Given the description of an element on the screen output the (x, y) to click on. 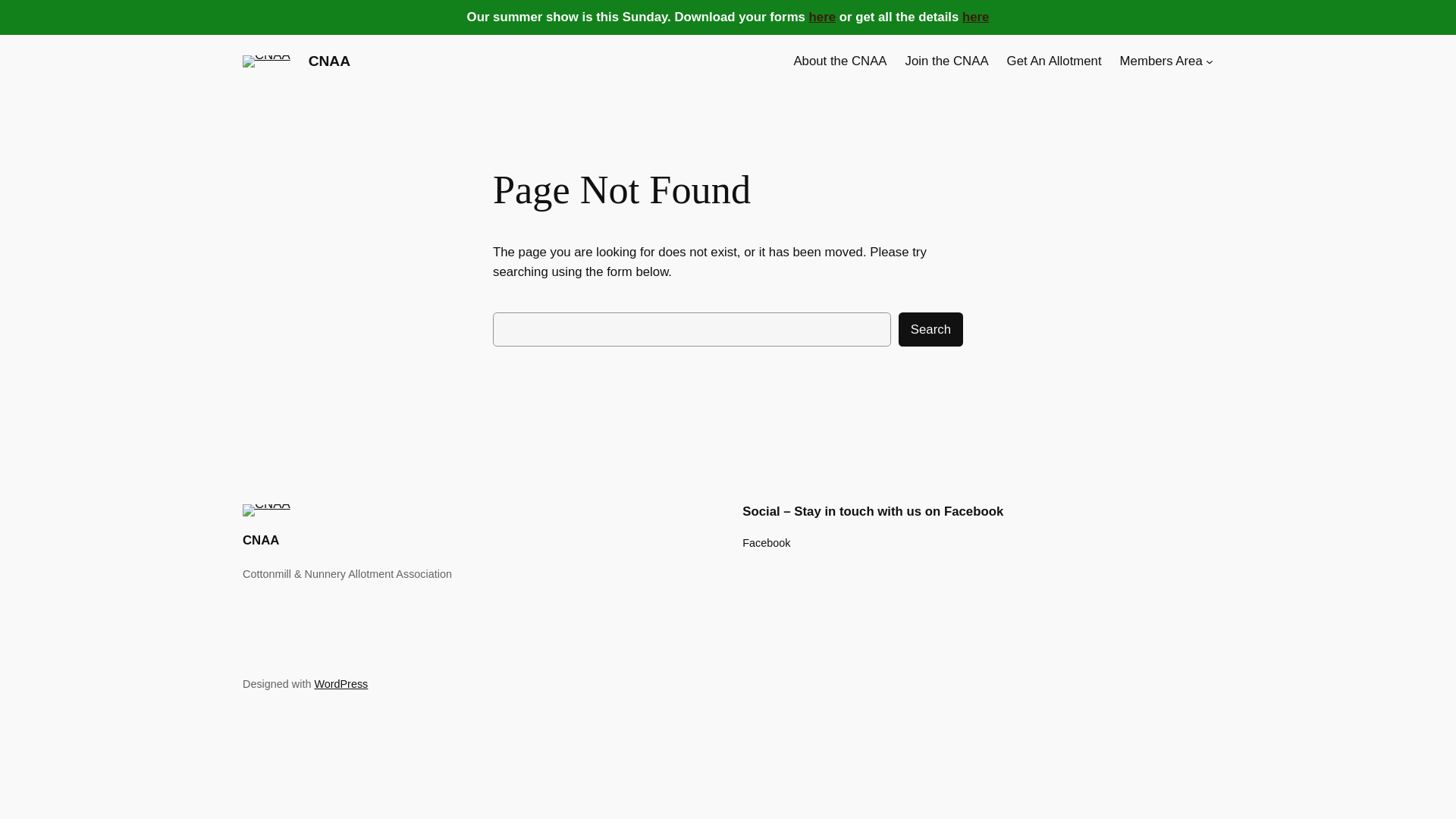
Join the CNAA (946, 61)
here (975, 16)
CNAA (329, 60)
Search (930, 329)
Members Area (1160, 61)
Get An Allotment (1054, 61)
WordPress (341, 684)
About the CNAA (839, 61)
CNAA (261, 540)
here (822, 16)
